Given the description of an element on the screen output the (x, y) to click on. 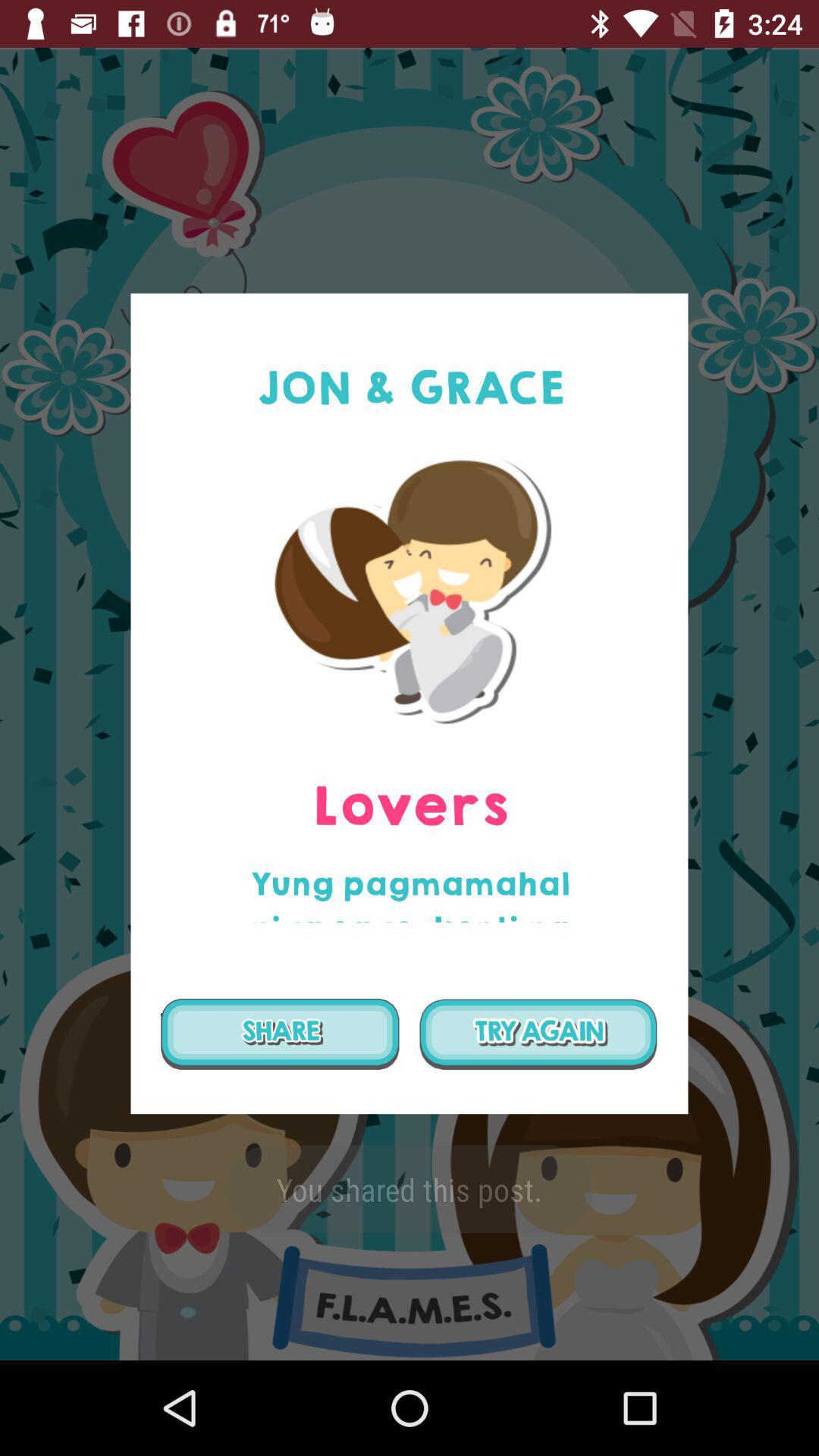
choose the item below the yung pagmamahal niya icon (279, 1034)
